Given the description of an element on the screen output the (x, y) to click on. 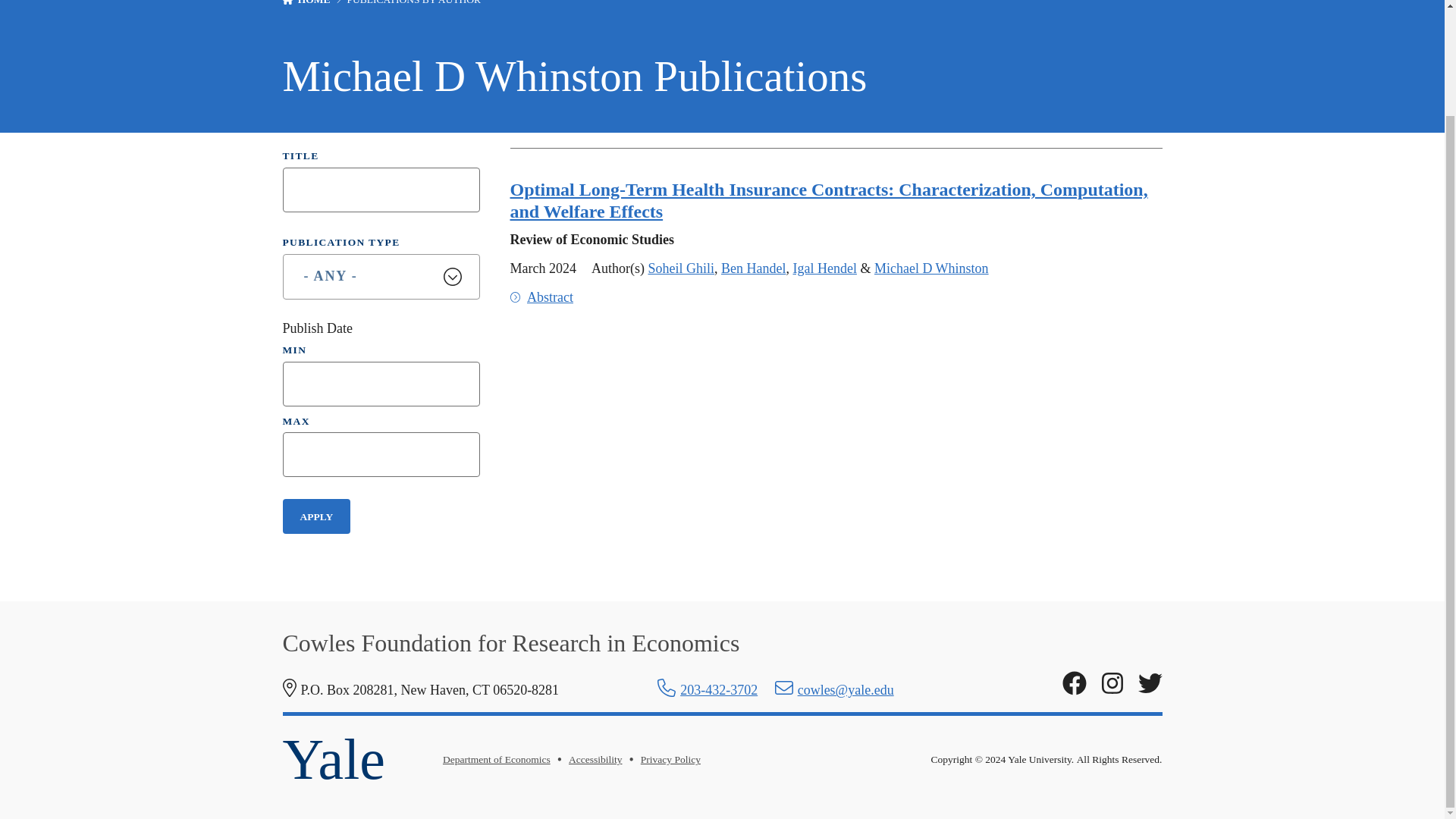
Apply (316, 515)
Apply (316, 515)
Facebook (1074, 683)
HOME (314, 2)
Twitter (1149, 683)
